Given the description of an element on the screen output the (x, y) to click on. 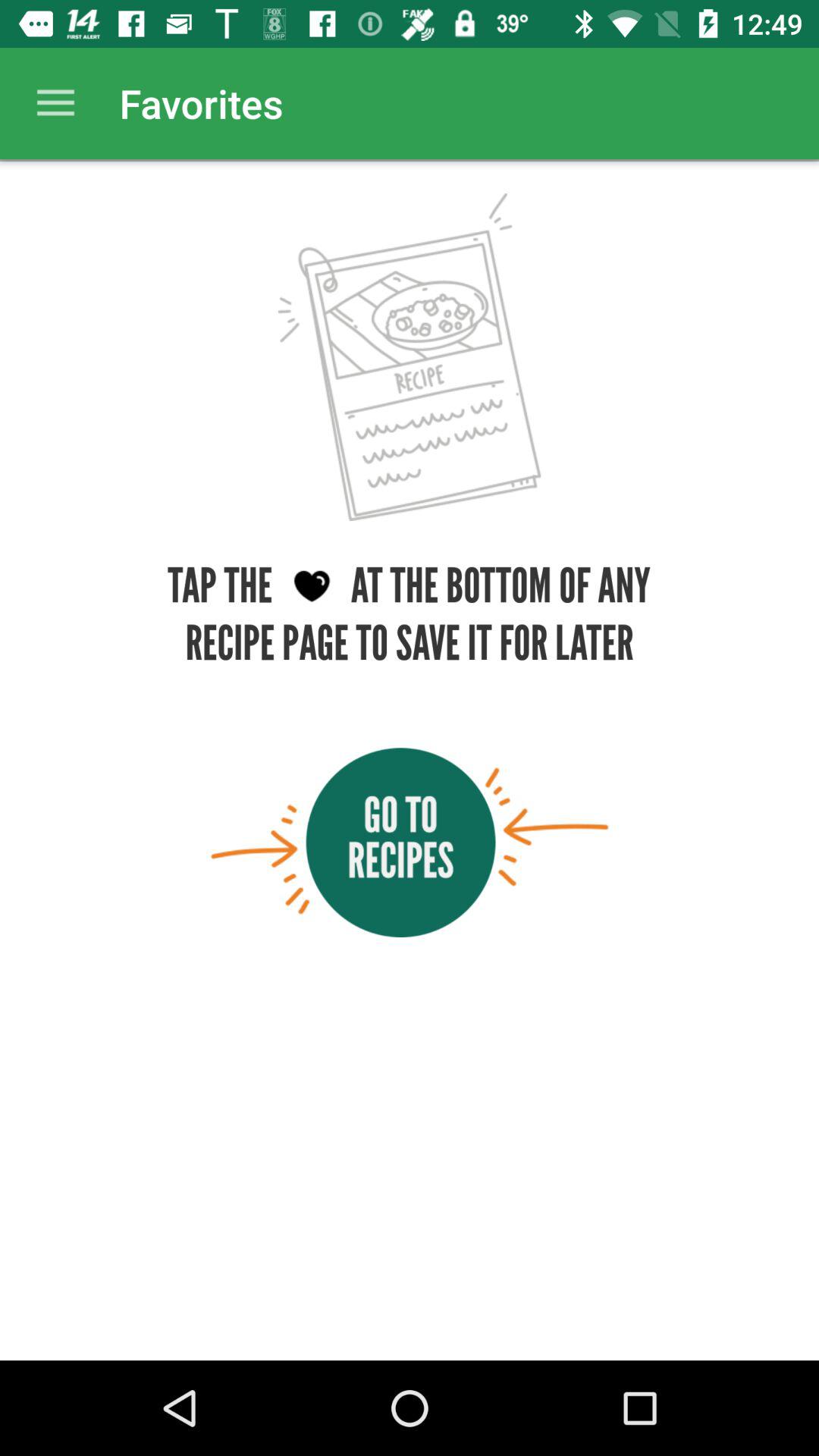
open the icon to the left of favorites item (55, 103)
